Given the description of an element on the screen output the (x, y) to click on. 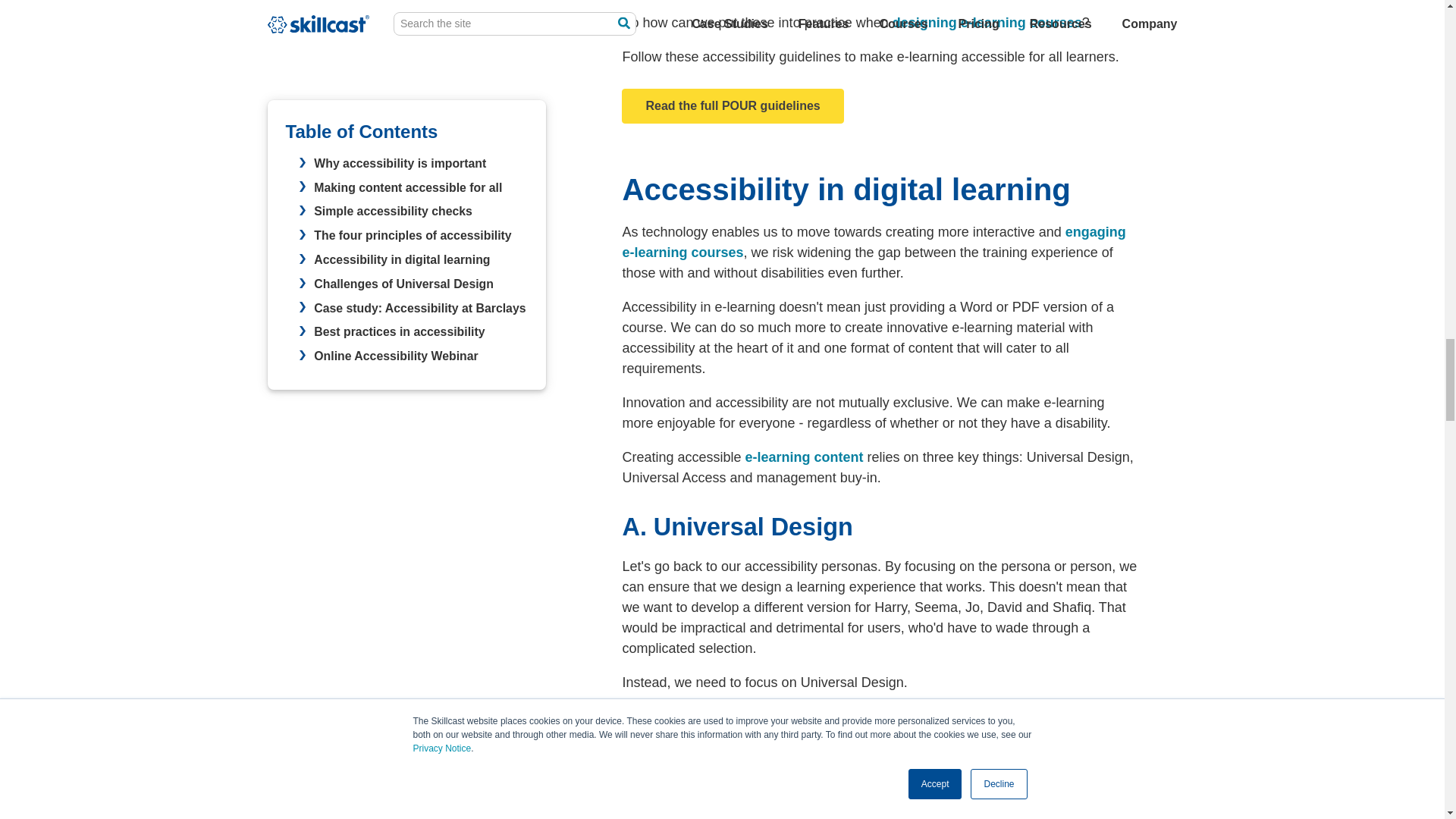
Read the full POUR guidelines (732, 105)
